Given the description of an element on the screen output the (x, y) to click on. 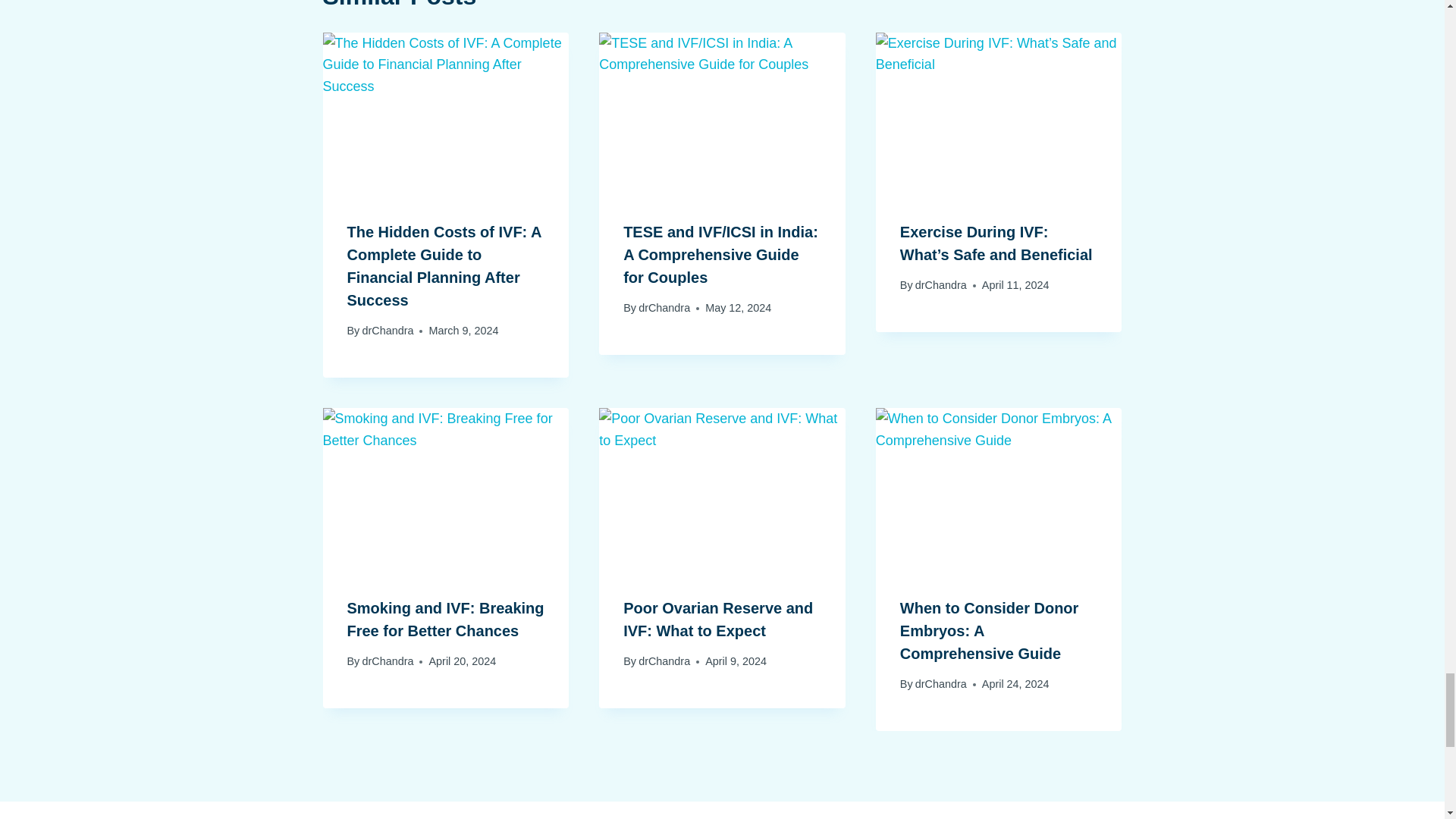
drChandra (387, 330)
